Given the description of an element on the screen output the (x, y) to click on. 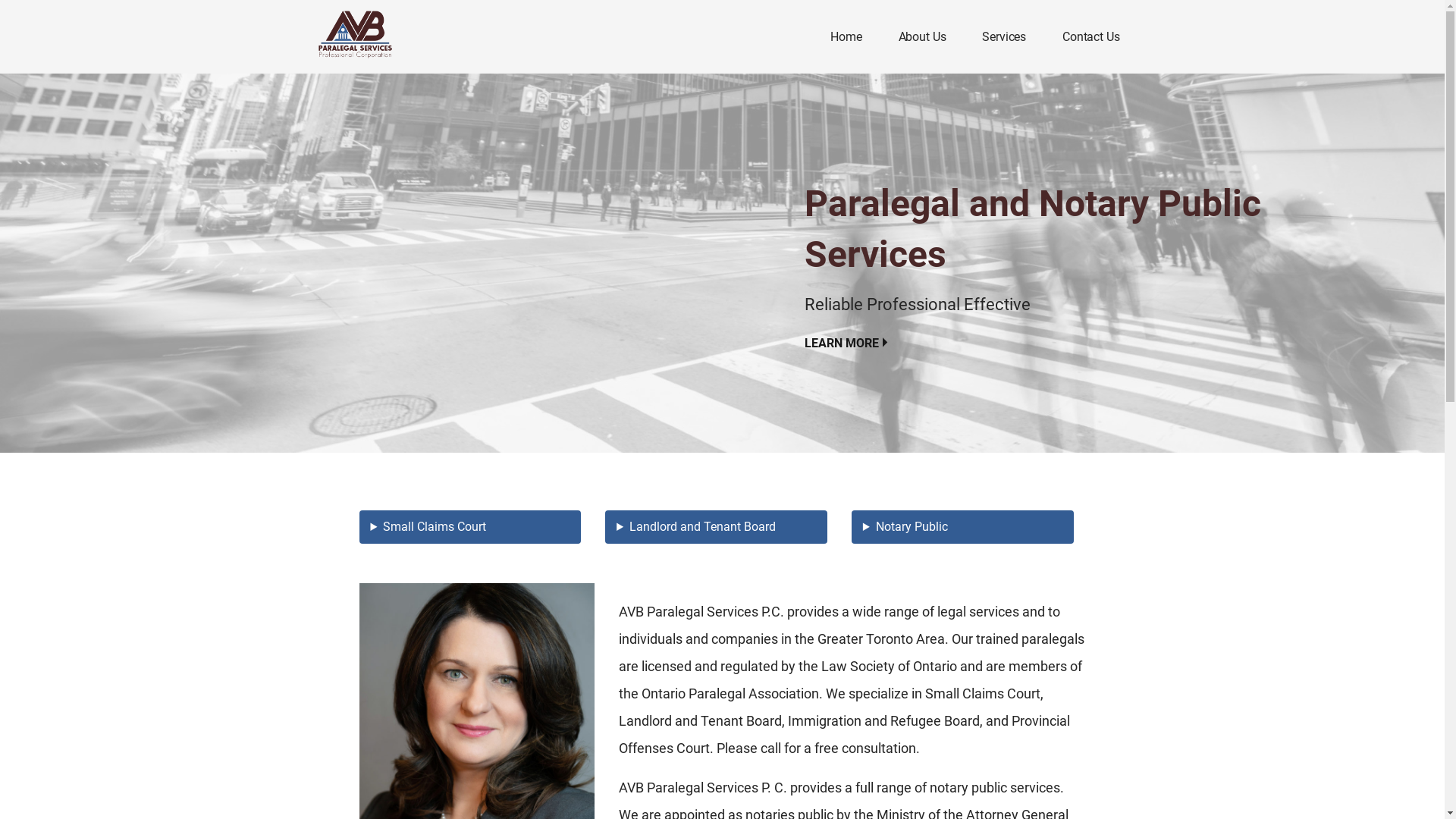
Contact Us Element type: text (1090, 37)
AVB PARALEGAL SERVICES Element type: text (417, 71)
About Us Element type: text (922, 37)
Services Element type: text (1003, 37)
Home Element type: text (845, 37)
LEARN MORE Element type: text (846, 343)
